Given the description of an element on the screen output the (x, y) to click on. 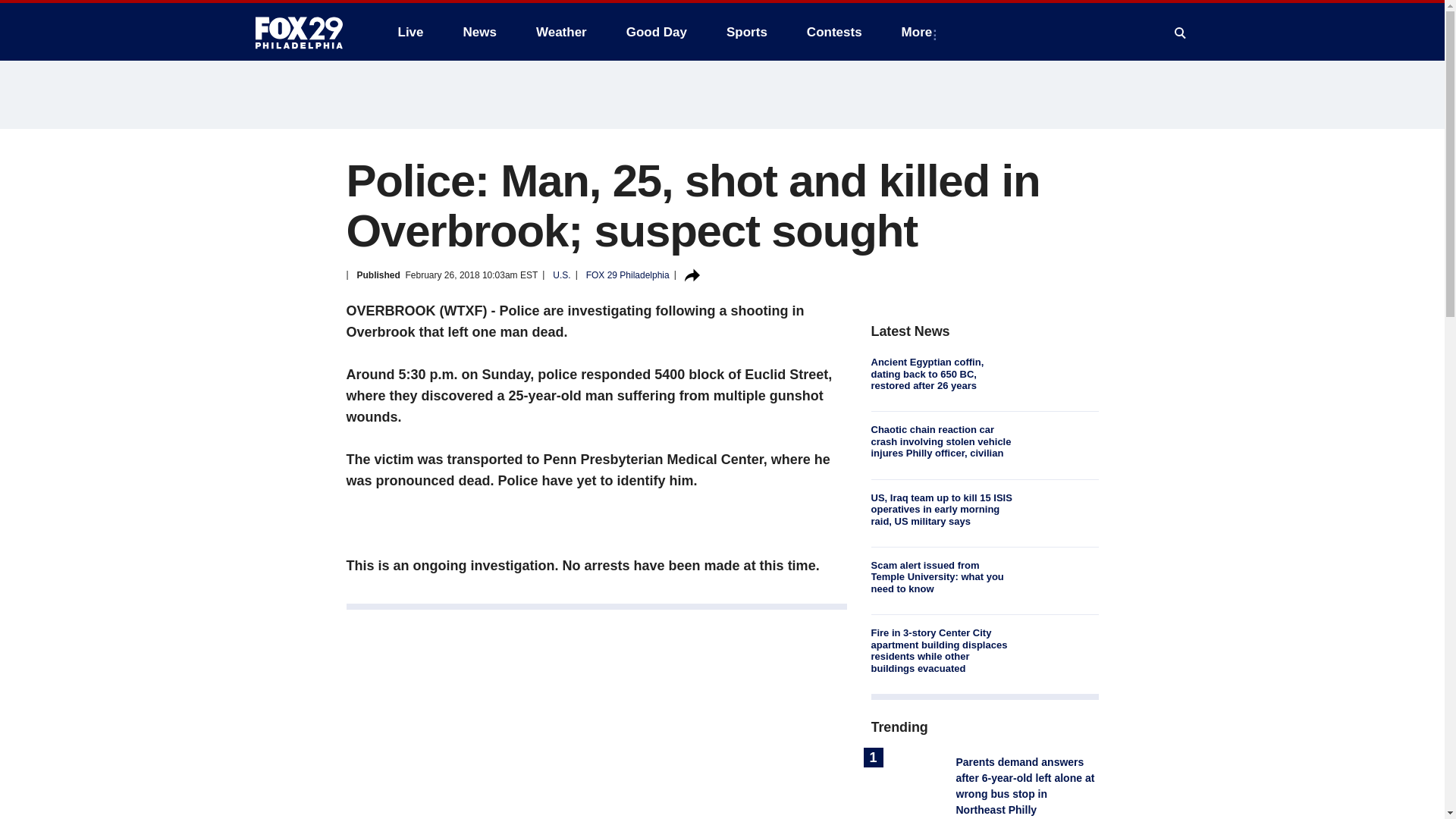
News (479, 32)
Contests (834, 32)
Live (410, 32)
More (919, 32)
Good Day (656, 32)
Sports (746, 32)
Weather (561, 32)
